Given the description of an element on the screen output the (x, y) to click on. 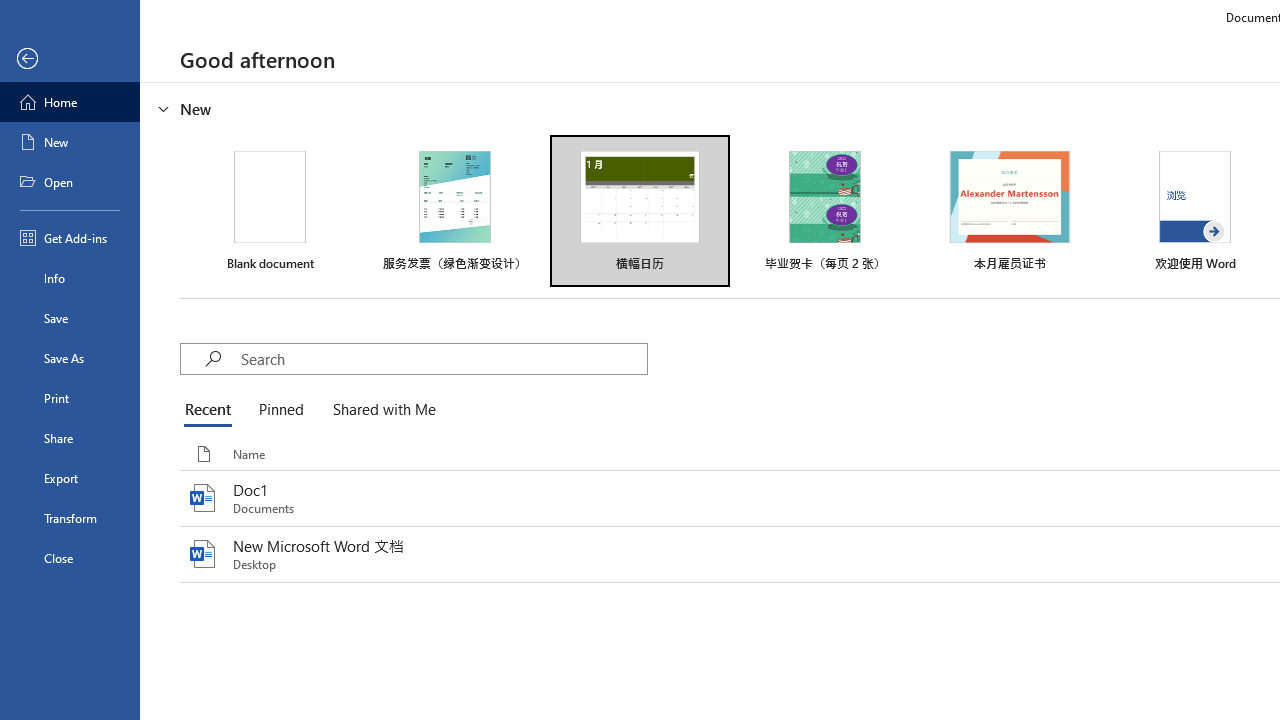
Pinned (280, 410)
Get Add-ins (69, 237)
Open (69, 182)
New (69, 141)
Close (69, 557)
Export (69, 477)
Share (69, 437)
